Given the description of an element on the screen output the (x, y) to click on. 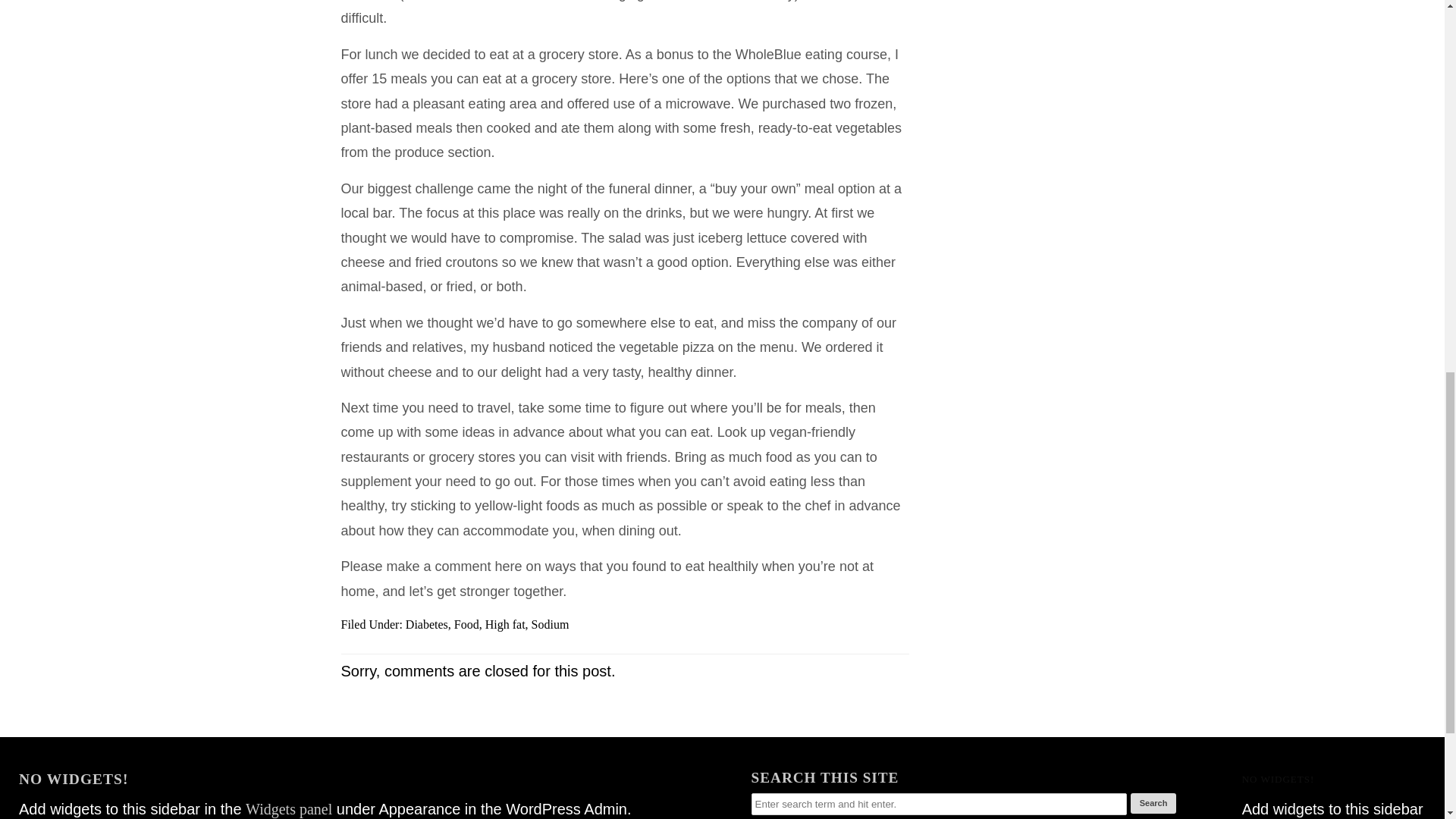
Widgets panel (1330, 816)
Widgets panel (288, 806)
Diabetes (427, 624)
Search (1153, 803)
Search (1153, 803)
High fat (504, 624)
Food (466, 624)
Sodium (550, 624)
